Given the description of an element on the screen output the (x, y) to click on. 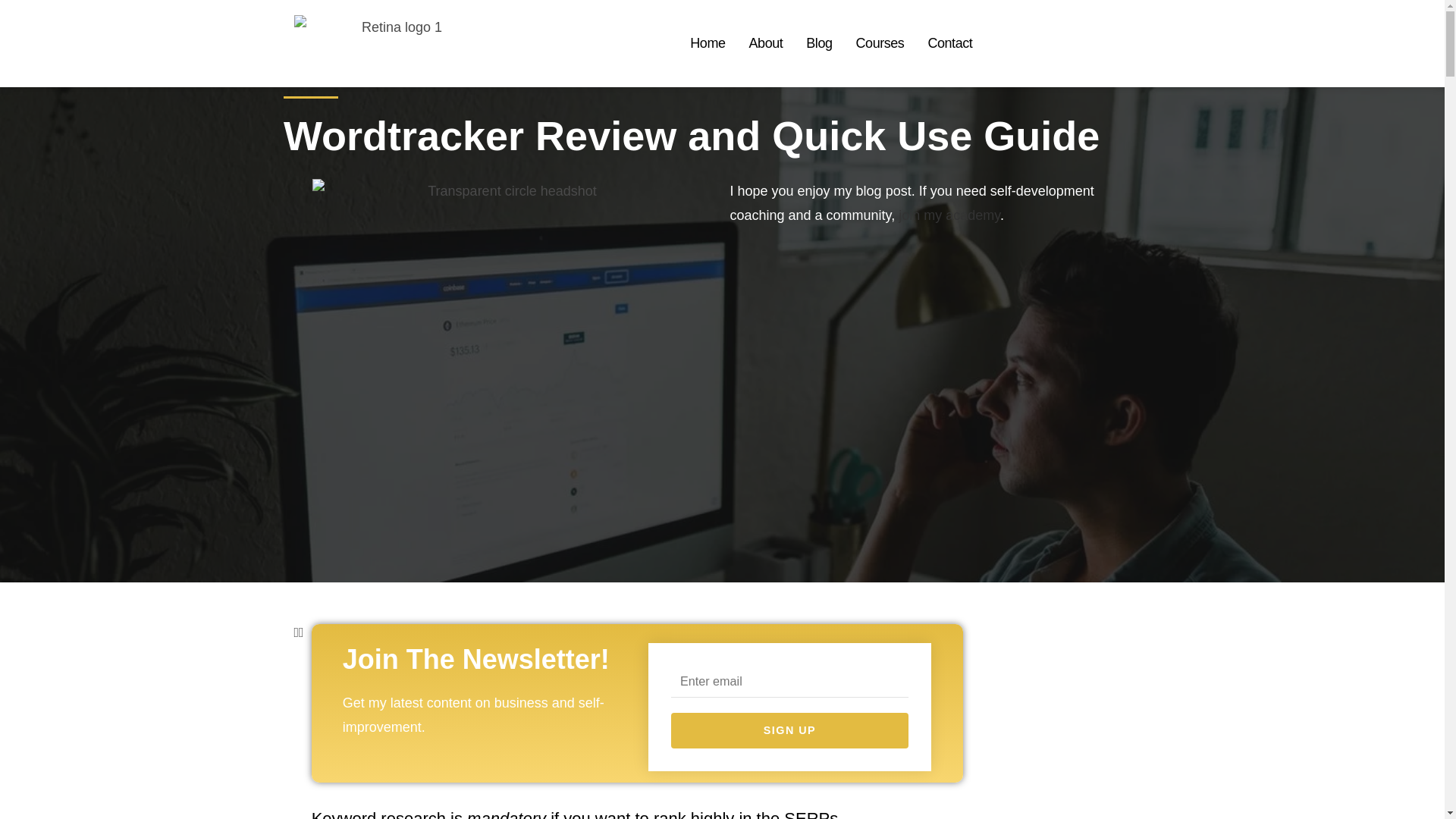
Home (707, 43)
About (766, 43)
SIGN UP (789, 730)
Courses (880, 43)
Blog (818, 43)
join my academy (949, 215)
Contact (949, 43)
